Given the description of an element on the screen output the (x, y) to click on. 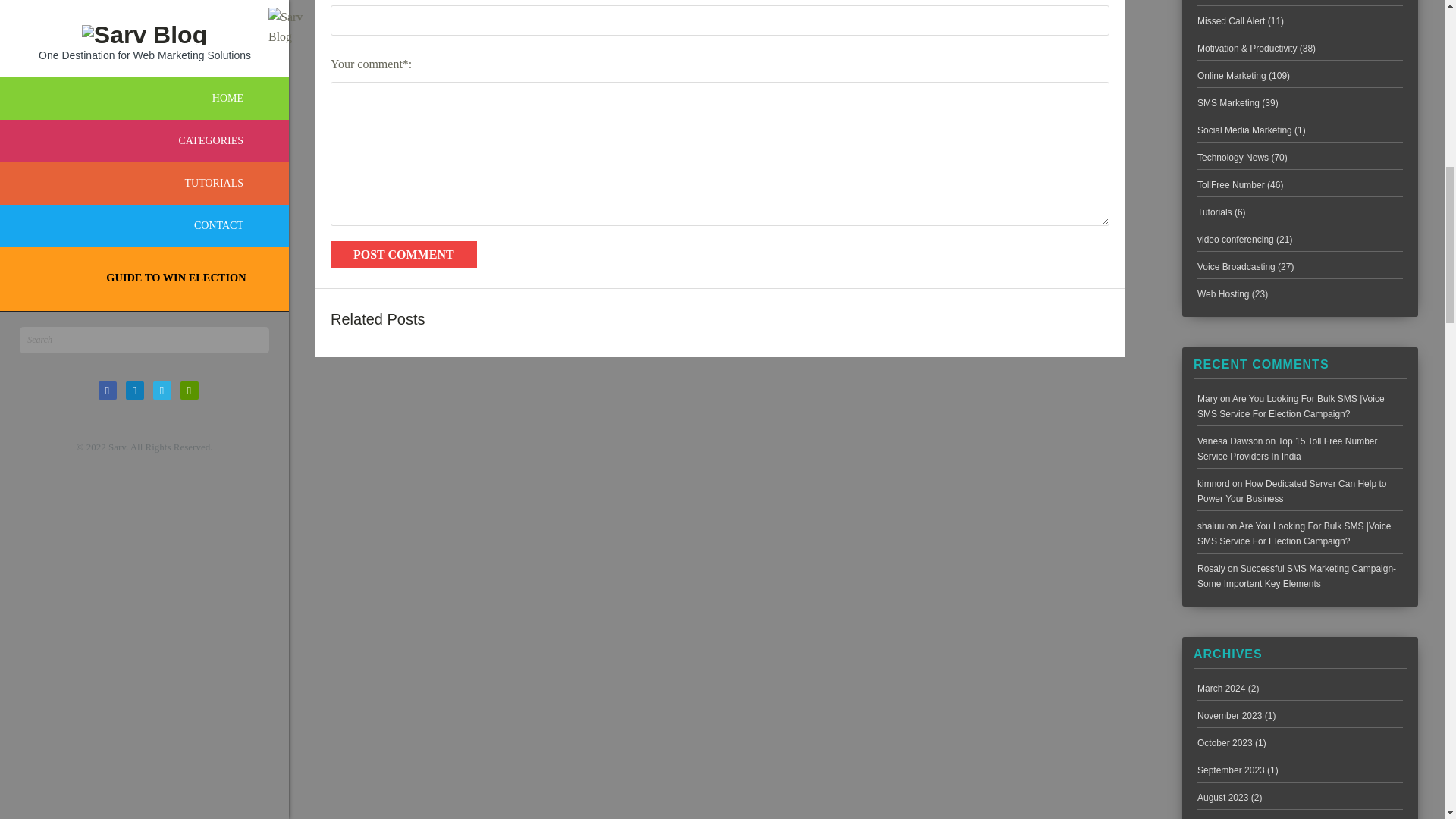
POST COMMENT (403, 254)
POST COMMENT (403, 254)
